Given the description of an element on the screen output the (x, y) to click on. 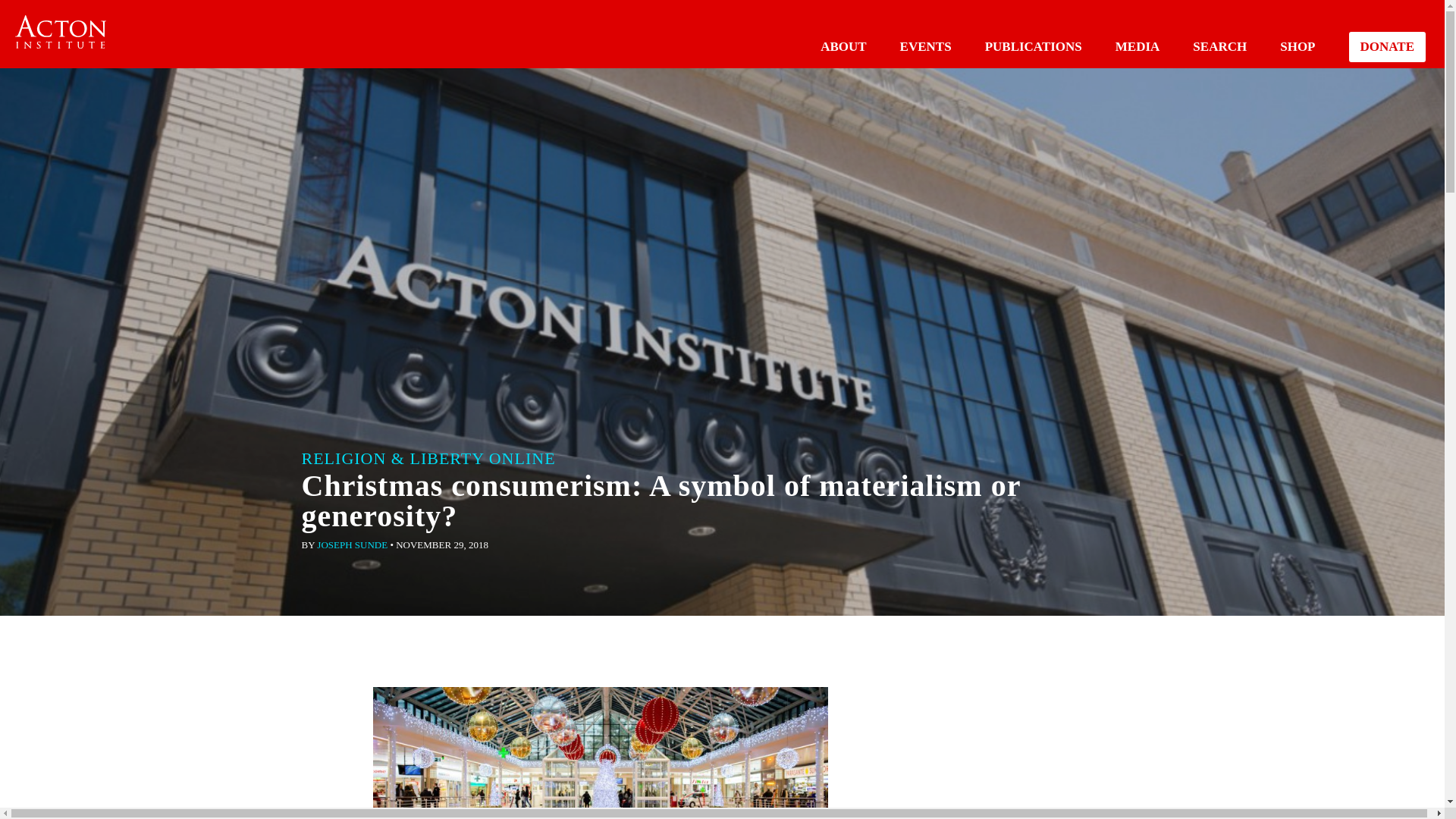
DONATE (1387, 46)
The Acton Institute (60, 31)
ABOUT (843, 46)
SHOP (1296, 46)
PUBLICATIONS (1033, 46)
Posts by Joseph Sunde (352, 544)
SEARCH (1219, 46)
MEDIA (1137, 46)
JOSEPH SUNDE (352, 544)
EVENTS (925, 46)
